Given the description of an element on the screen output the (x, y) to click on. 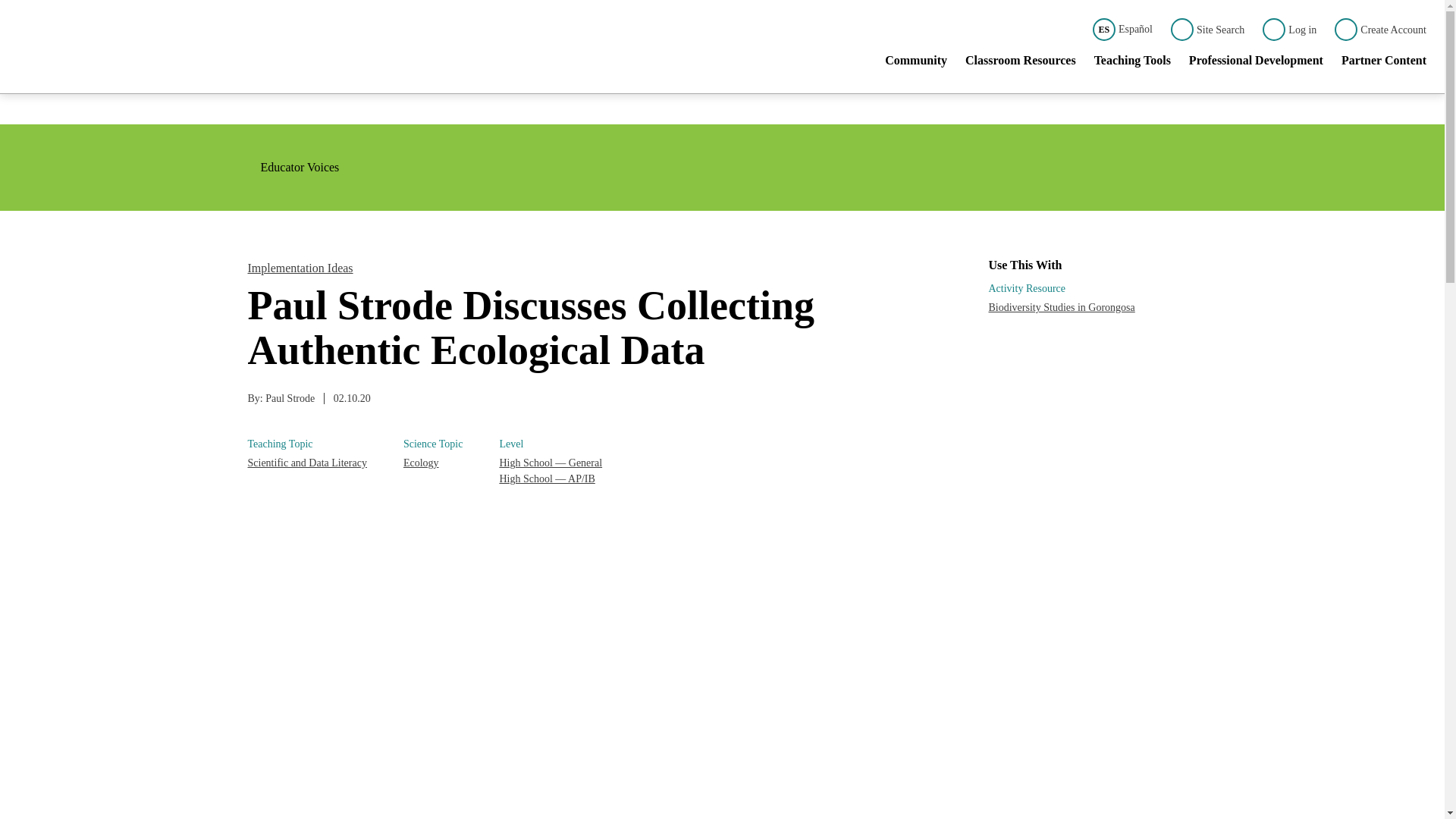
Site Search (1207, 28)
Community (916, 62)
Log in (1289, 28)
Educator Voices (293, 166)
Ecology (433, 462)
Classroom Resources (1020, 62)
Home (146, 47)
Biodiversity Studies in Gorongosa (1061, 307)
Implementation Ideas (299, 267)
Partner Content (1383, 62)
